Given the description of an element on the screen output the (x, y) to click on. 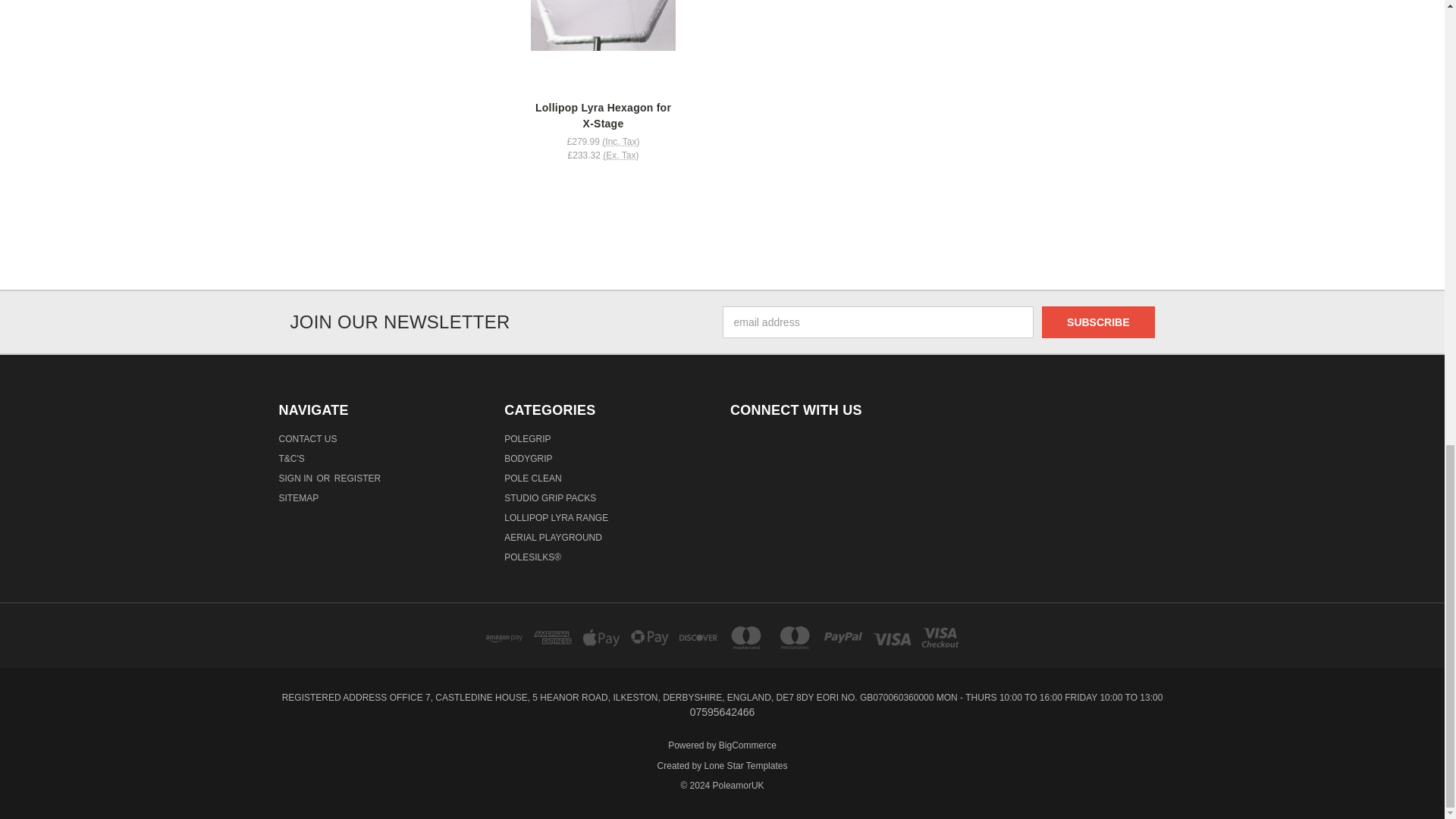
Including Tax (620, 141)
Excluding Tax (620, 154)
Subscribe (1098, 322)
